Given the description of an element on the screen output the (x, y) to click on. 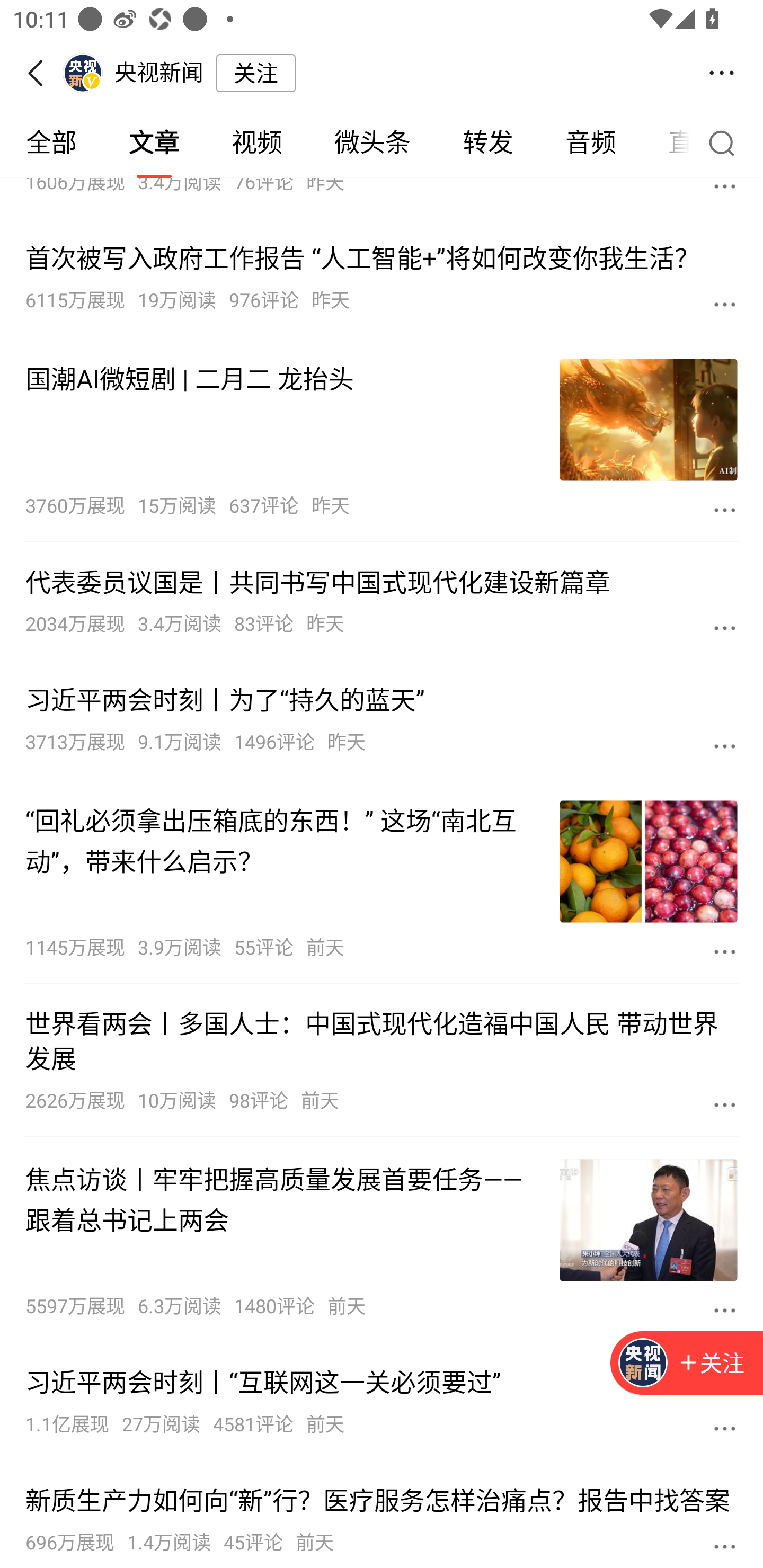
返回 (41, 72)
更多操作 (721, 72)
关注 (255, 72)
全部 (51, 143)
文章 (154, 143)
视频 (256, 143)
微头条 (372, 143)
转发 (487, 143)
音频 (590, 143)
搜索 (726, 142)
更多 (724, 188)
更多 (724, 303)
更多 (724, 509)
更多 (724, 626)
更多 (724, 745)
更多 (724, 951)
更多 (724, 1103)
更多 (724, 1309)
    关注 (686, 1363)
    关注 (711, 1363)
更多 (724, 1427)
更多 (724, 1545)
